Given the description of an element on the screen output the (x, y) to click on. 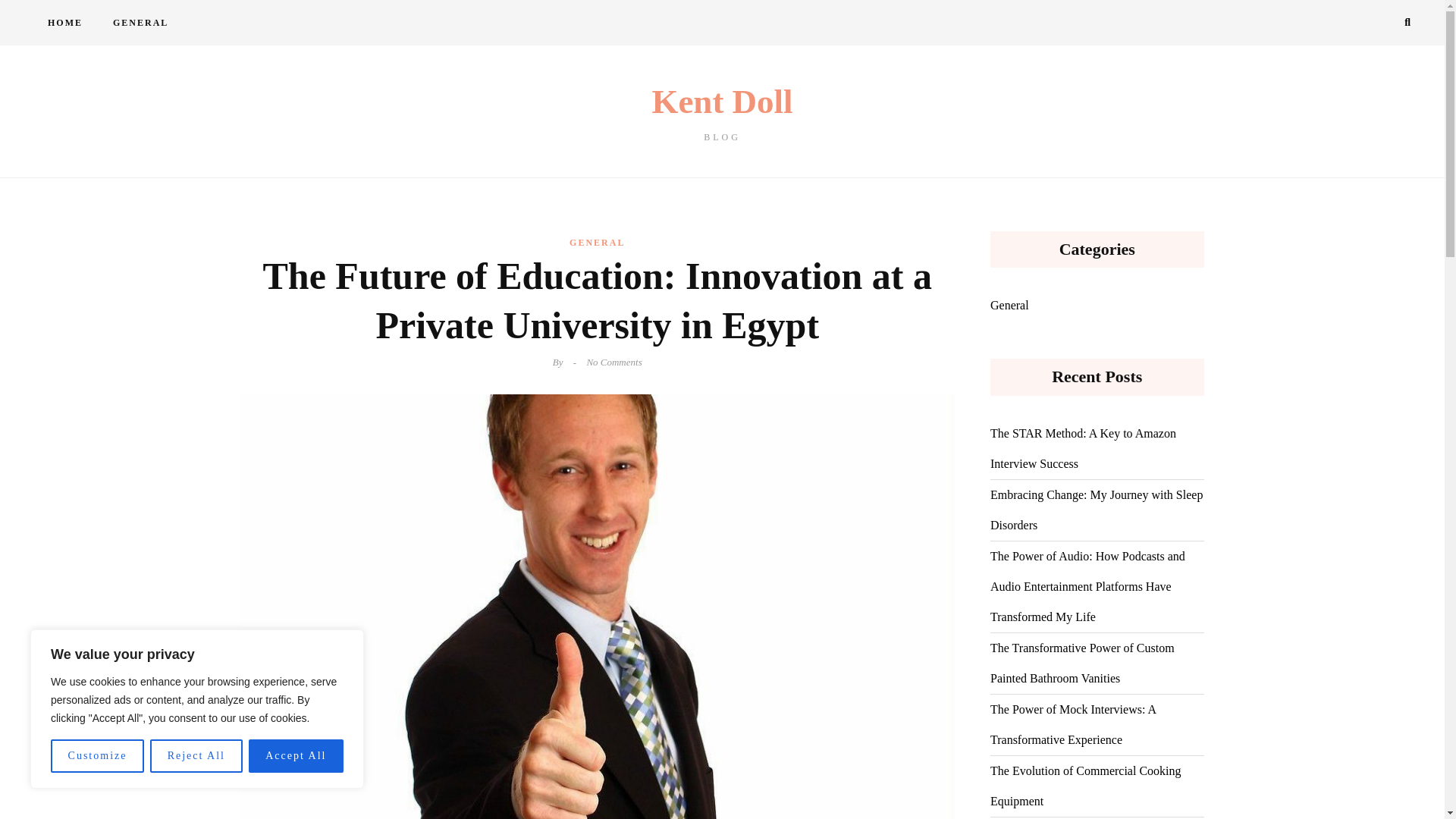
Customize (97, 756)
GENERAL (140, 22)
GENERAL (596, 241)
Accept All (295, 756)
General (721, 112)
Reject All (1009, 305)
HOME (196, 756)
